Given the description of an element on the screen output the (x, y) to click on. 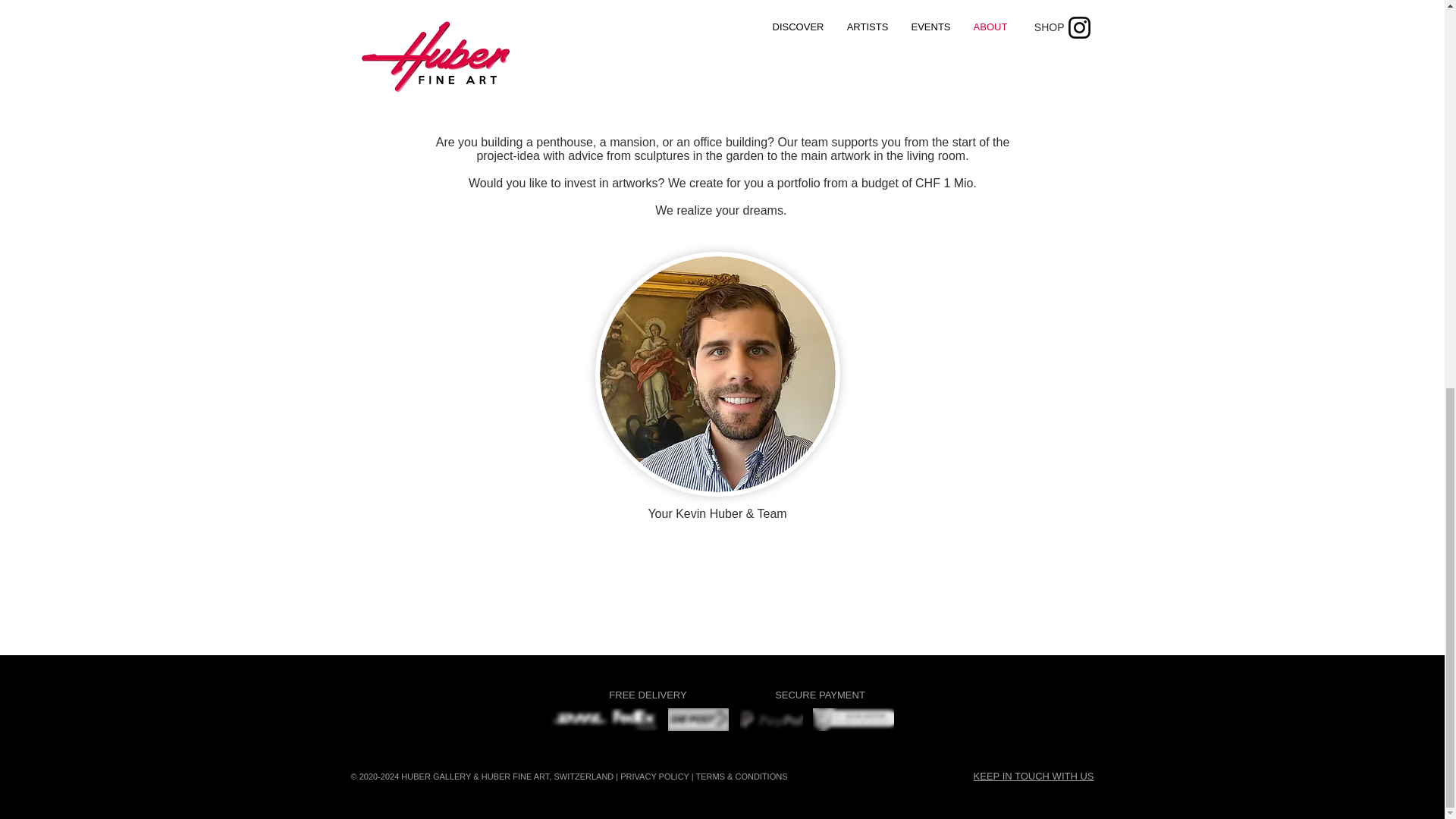
KEEP IN TOUCH WITH US (1034, 776)
